Given the description of an element on the screen output the (x, y) to click on. 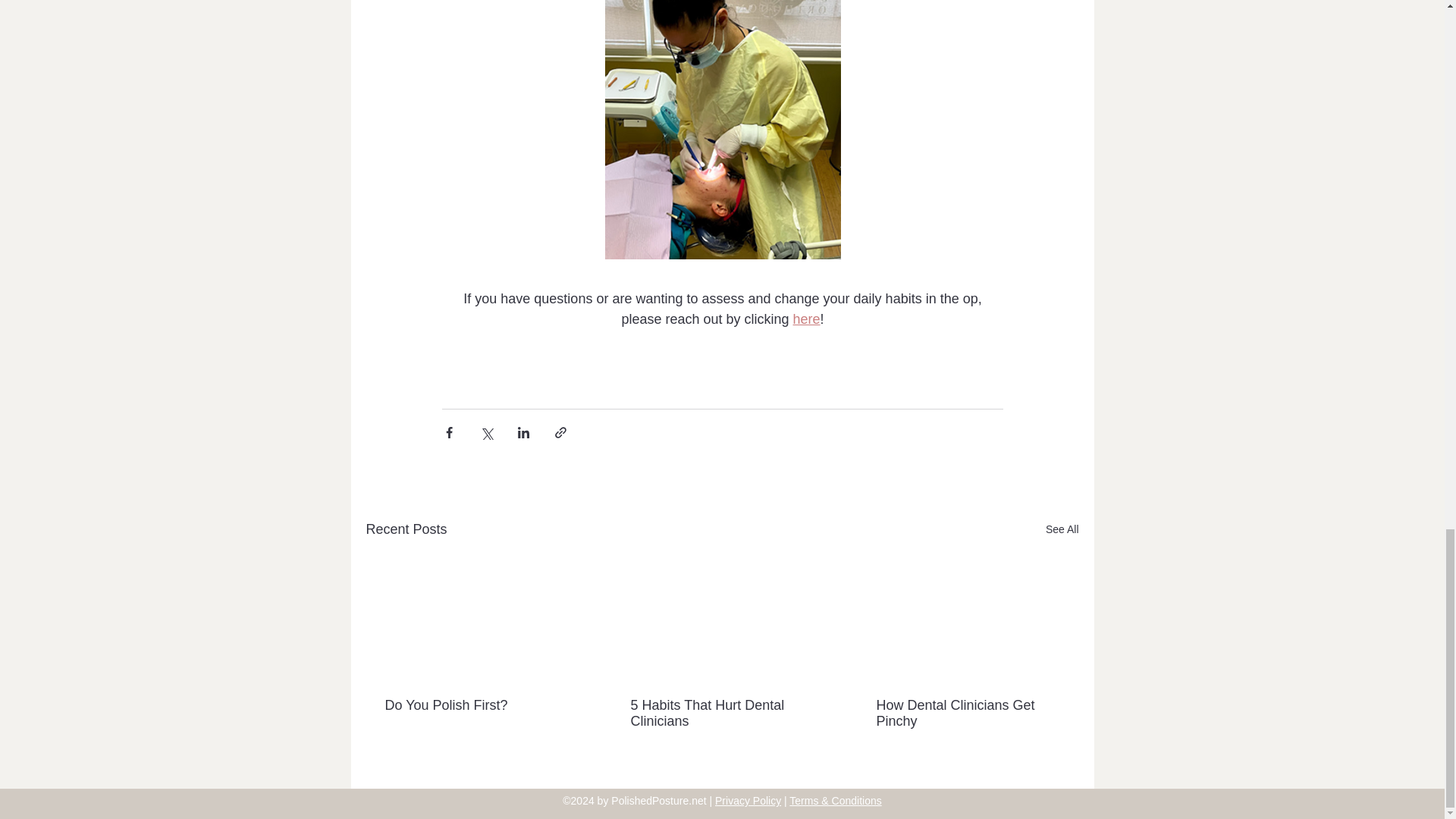
5 Habits That Hurt Dental Clinicians (721, 713)
See All (1061, 529)
Do You Polish First? (476, 705)
here (805, 319)
